Given the description of an element on the screen output the (x, y) to click on. 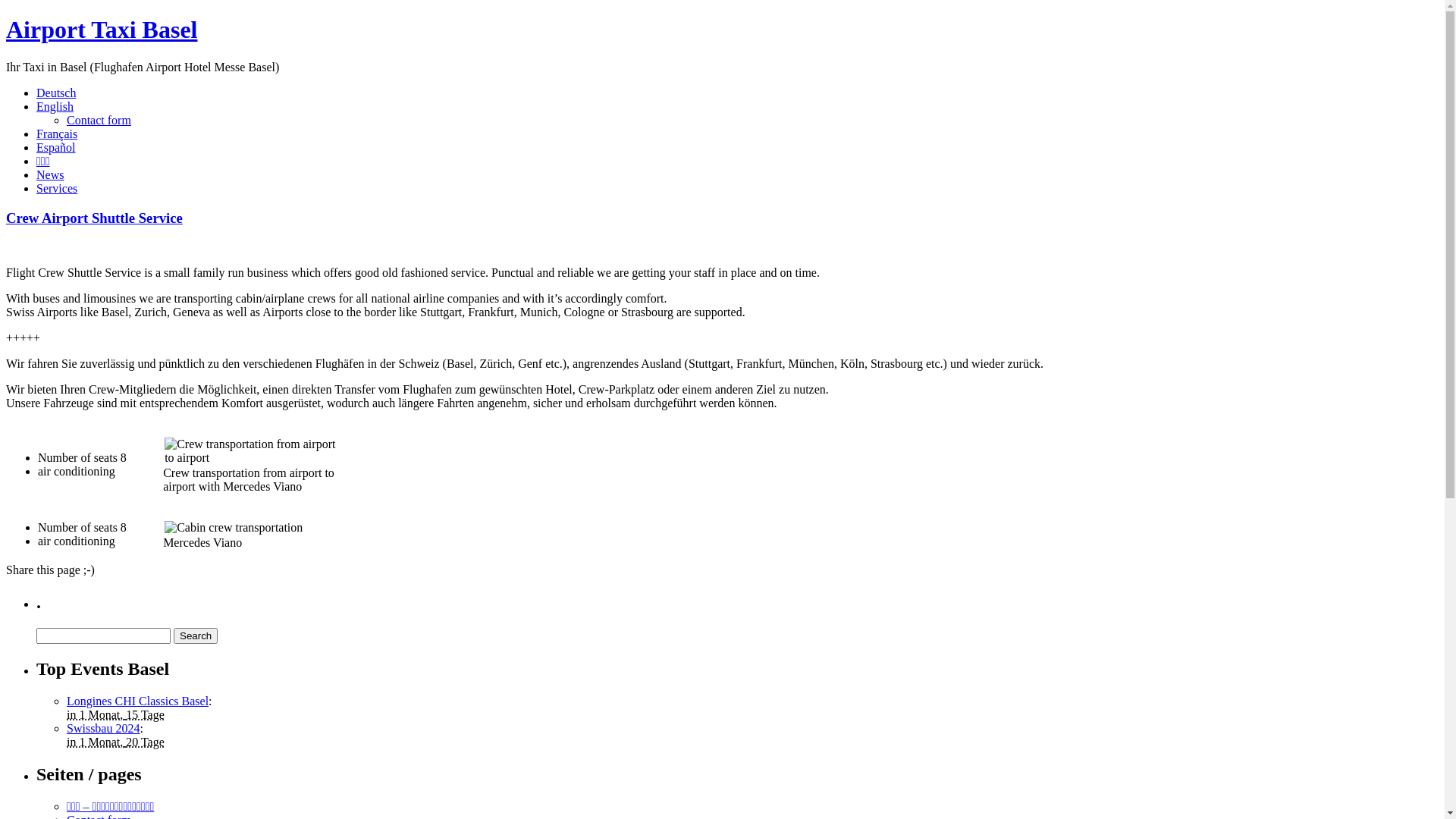
Swissbau 2024 Element type: text (102, 727)
English Element type: text (54, 106)
Search Element type: text (195, 635)
News Element type: text (49, 174)
Crew transportation from airport to airport Element type: hover (253, 450)
Crew Airport Shuttle Service Element type: text (94, 217)
Longines CHI Classics Basel Element type: text (137, 700)
Contact form Element type: text (98, 119)
Flight crew transportation from airport to airport Element type: hover (233, 527)
Airport Taxi Basel Element type: text (722, 29)
Services Element type: text (56, 188)
Deutsch Element type: text (55, 92)
